Given the description of an element on the screen output the (x, y) to click on. 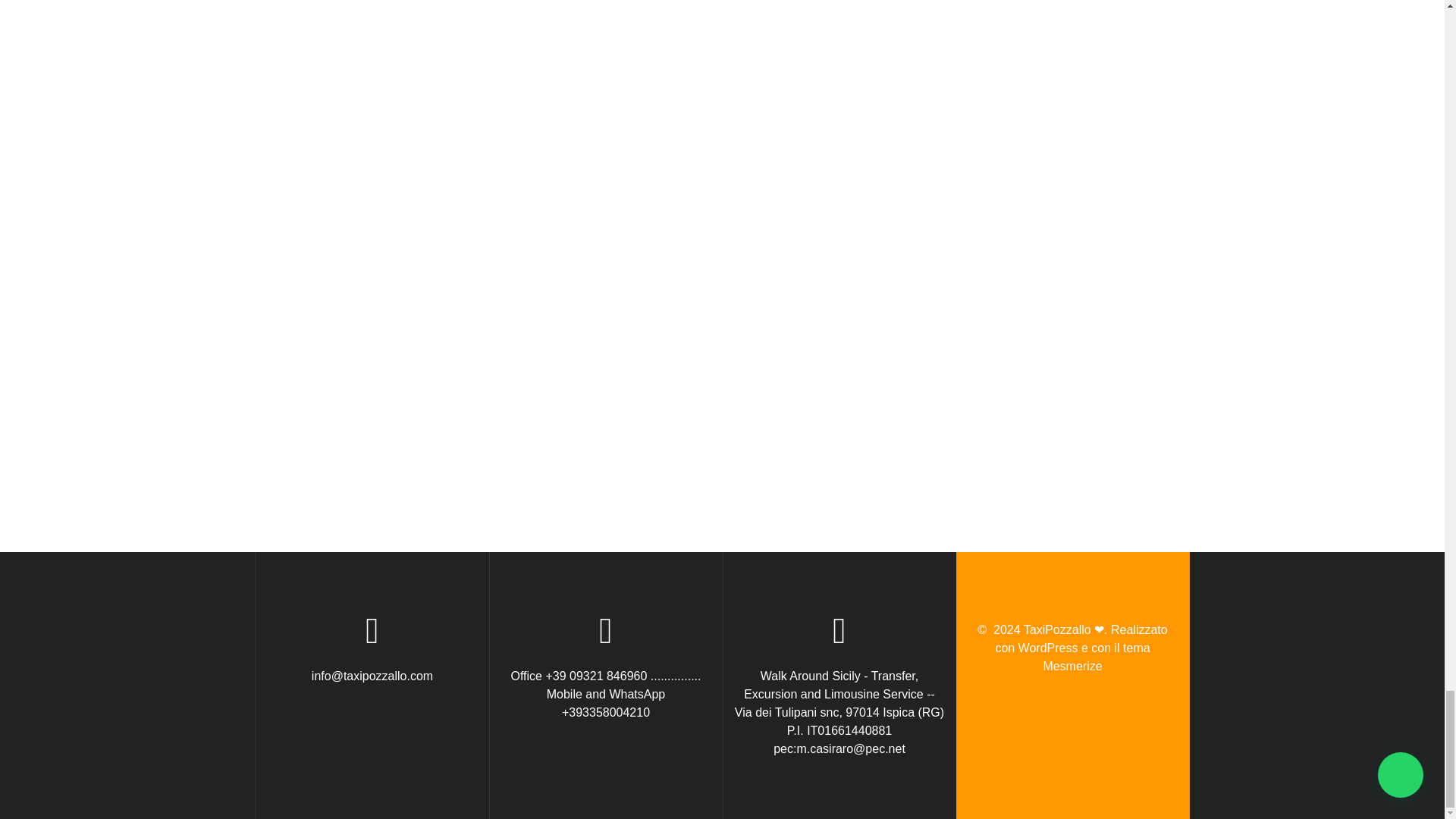
Invia (1113, 404)
